Given the description of an element on the screen output the (x, y) to click on. 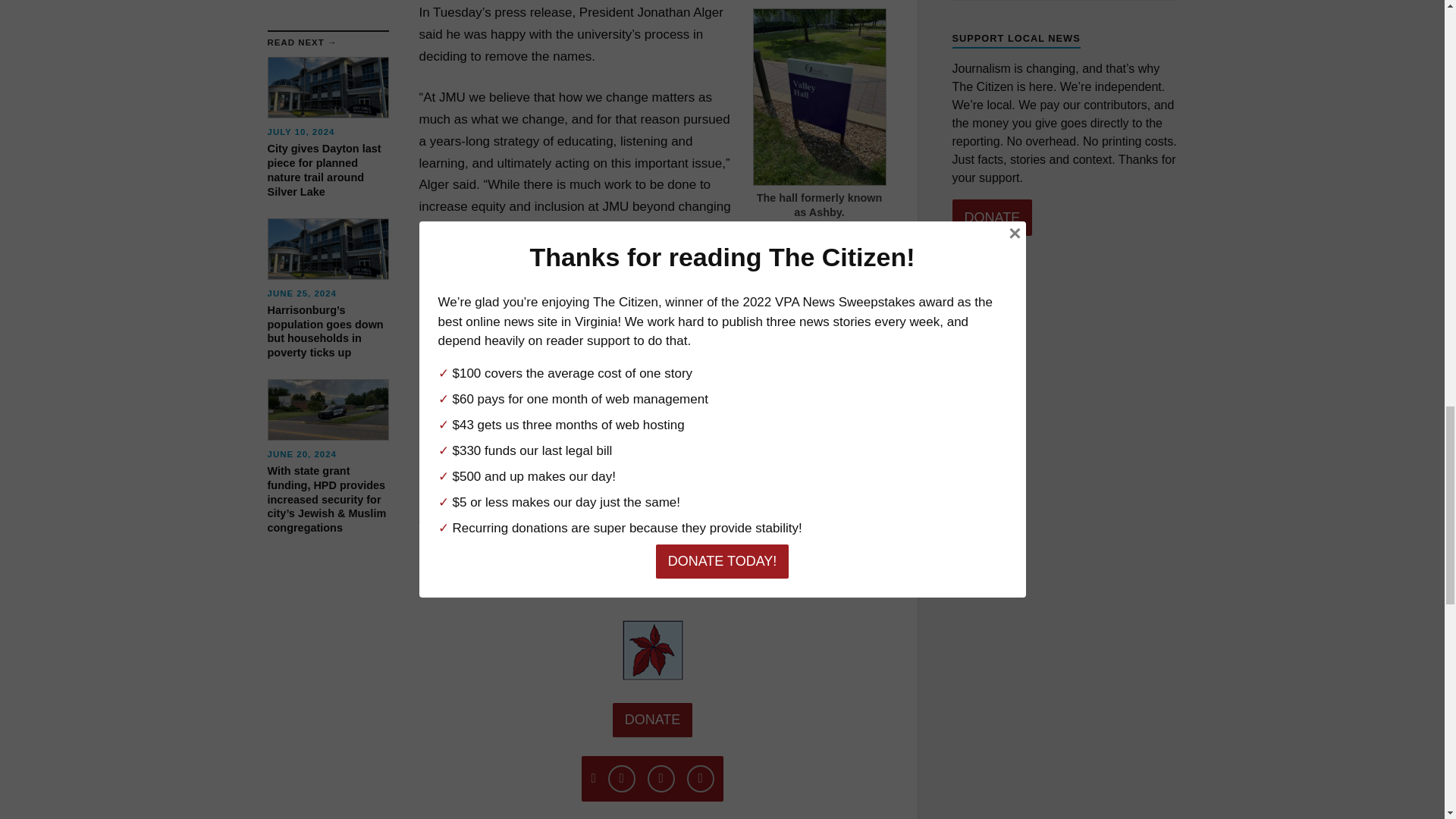
Share on Twitter (621, 778)
Share on LinkedIn (700, 778)
DONATE (652, 719)
Share on Facebook (661, 778)
